Given the description of an element on the screen output the (x, y) to click on. 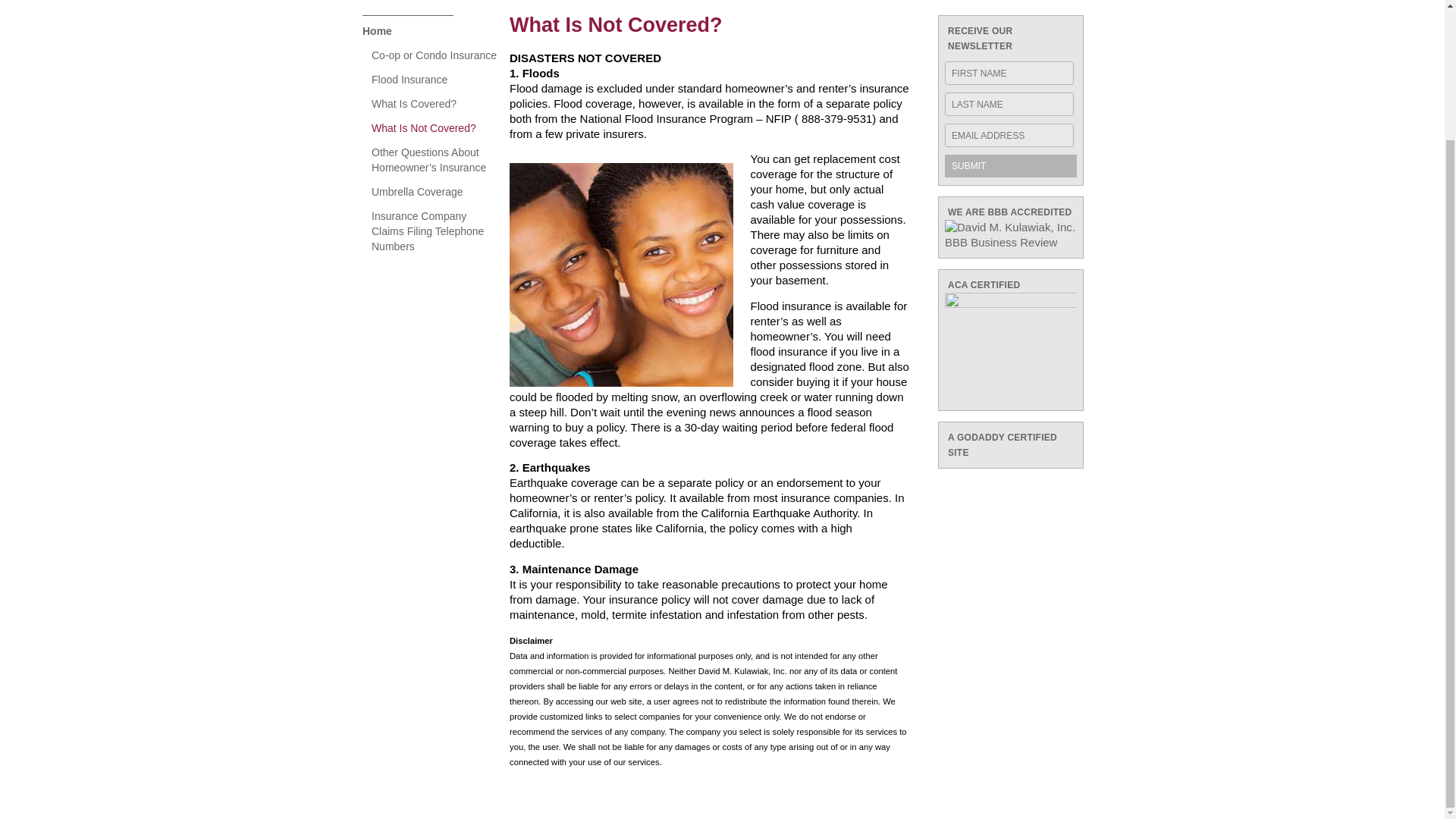
SUBMIT (1010, 165)
